Given the description of an element on the screen output the (x, y) to click on. 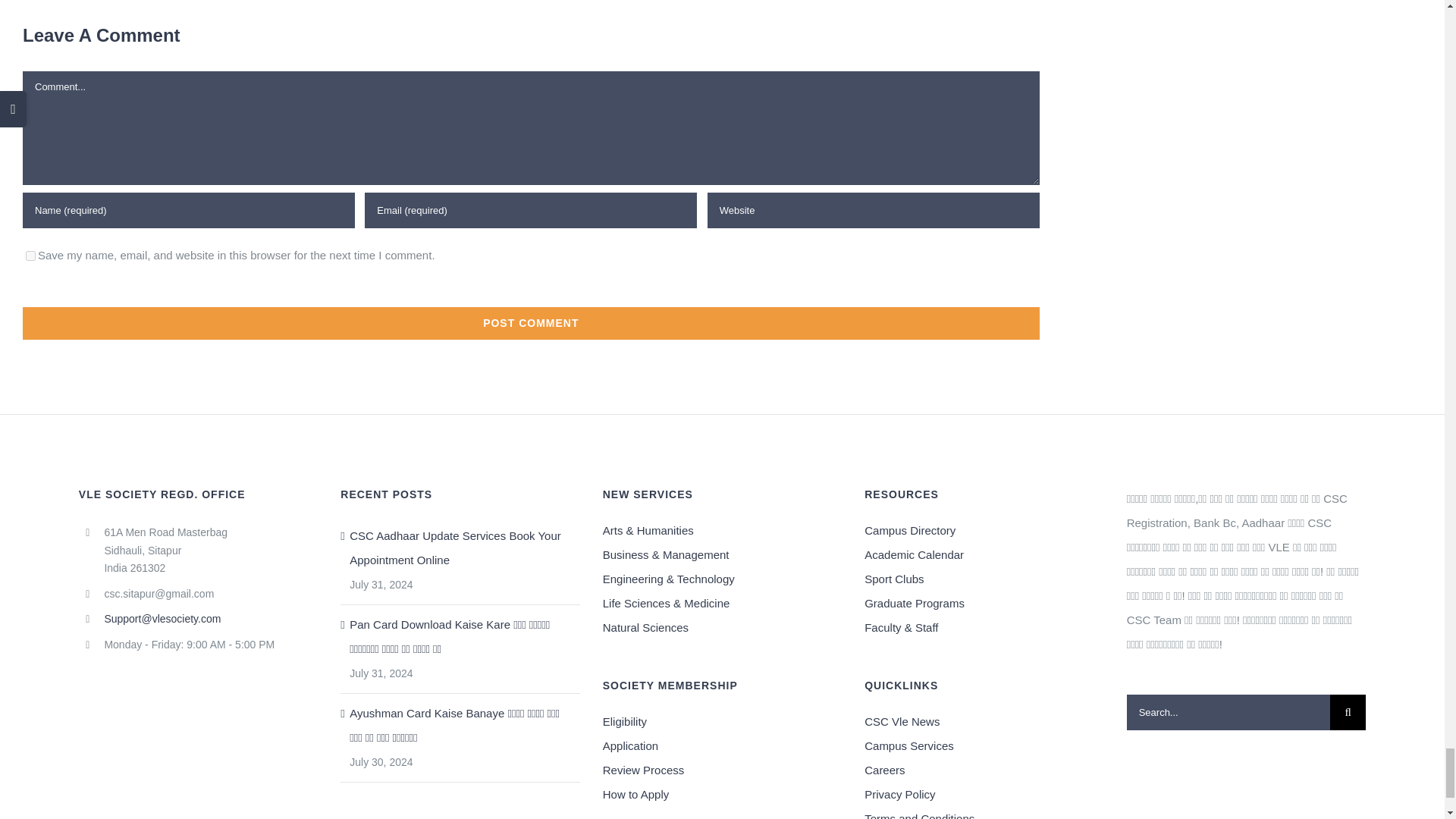
yes (30, 255)
Post Comment (531, 323)
